Given the description of an element on the screen output the (x, y) to click on. 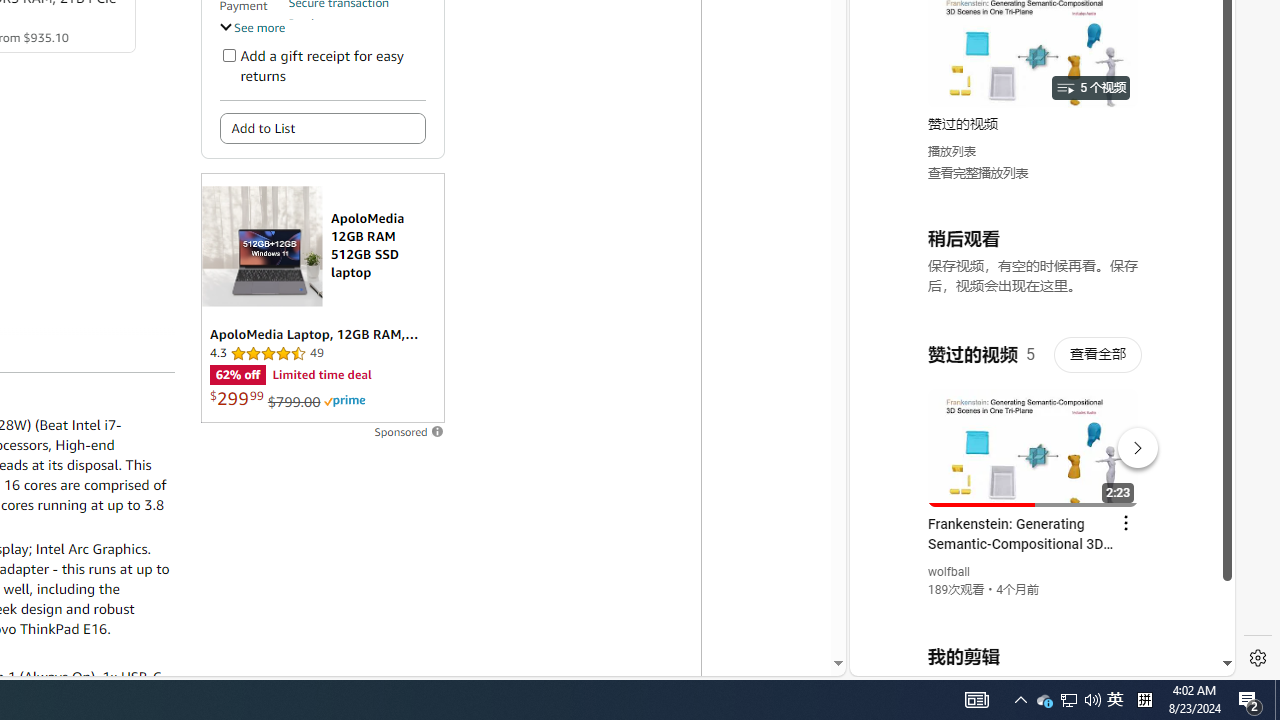
US[ju] (917, 660)
Add to List (322, 128)
Click to scroll right (1196, 83)
wolfball (949, 572)
